Given the description of an element on the screen output the (x, y) to click on. 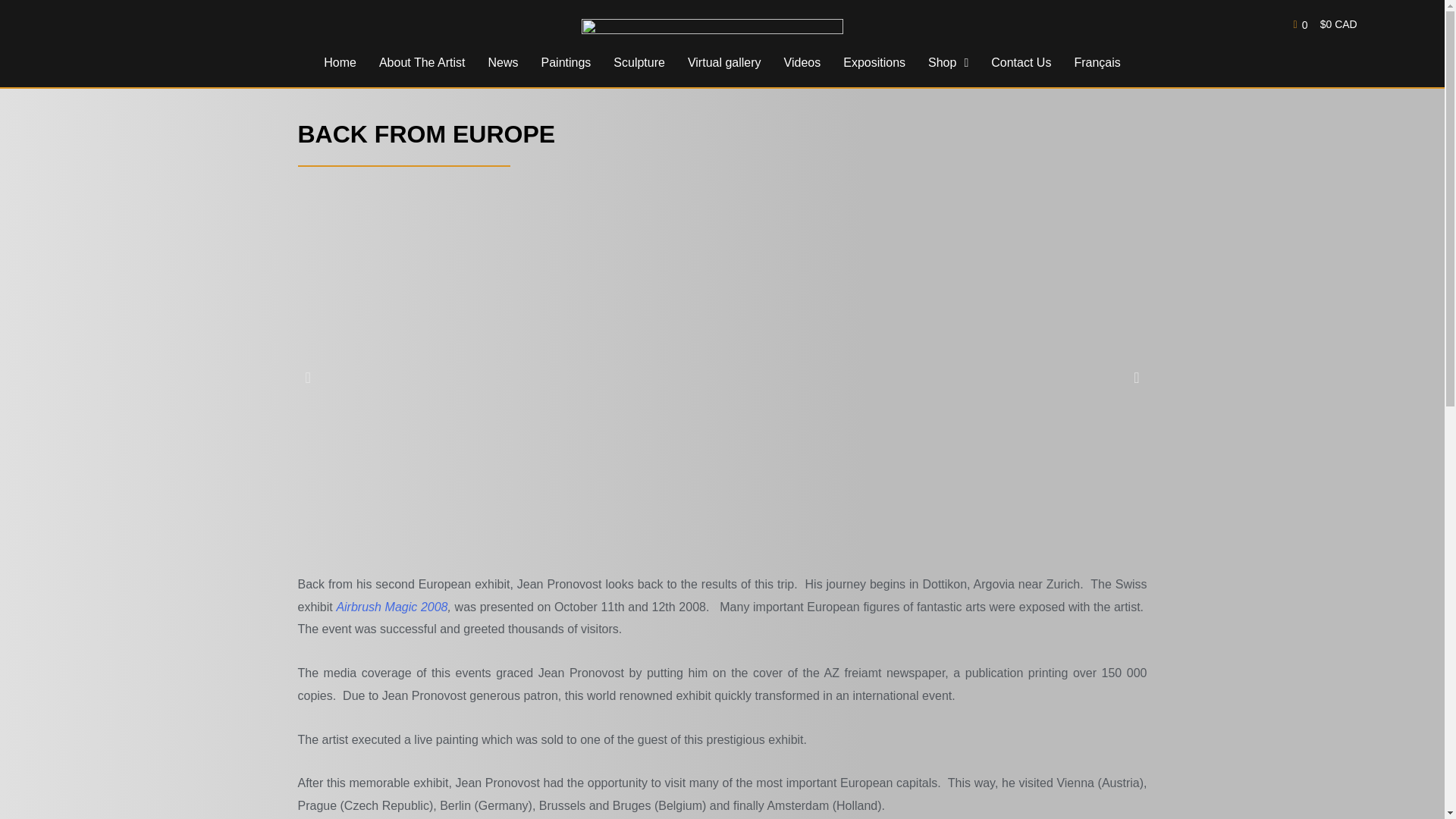
Sculpture (639, 62)
Airbrush Magic 2008 (391, 606)
Videos (802, 62)
News (502, 62)
Shop (948, 62)
Home (340, 62)
View your shopping cart (1325, 25)
About The Artist (422, 62)
Contact Us (1020, 62)
Paintings (565, 62)
